Given the description of an element on the screen output the (x, y) to click on. 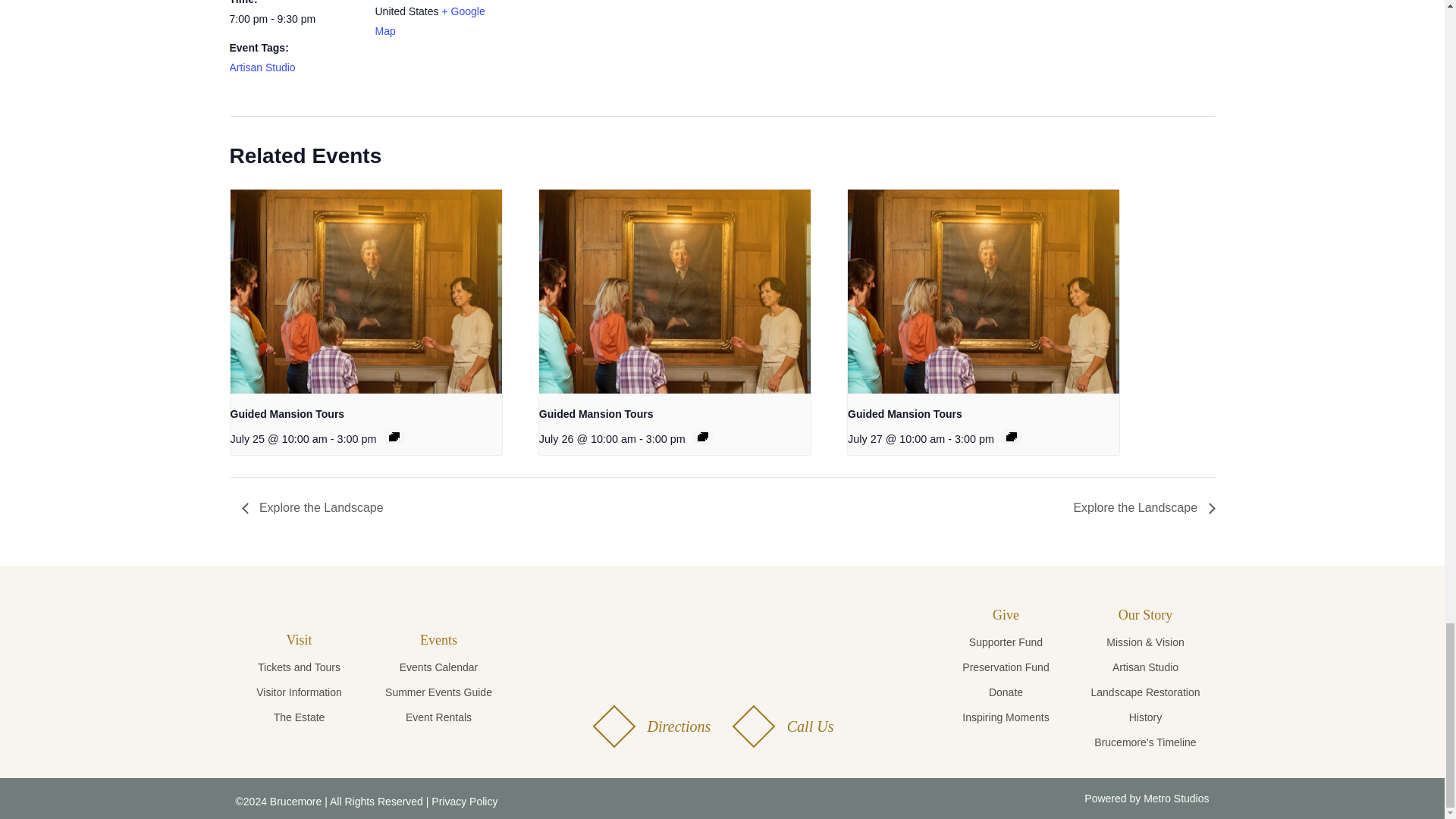
Instagram (737, 798)
Event Series (393, 436)
Click to view a Google Map (429, 20)
Event Series (702, 436)
Youtube (771, 798)
Google maps iframe displaying the address to Brucemore (599, 40)
2023-10-17 (292, 19)
Event Series (1011, 436)
Facebook (671, 798)
Twitter (705, 798)
